Given the description of an element on the screen output the (x, y) to click on. 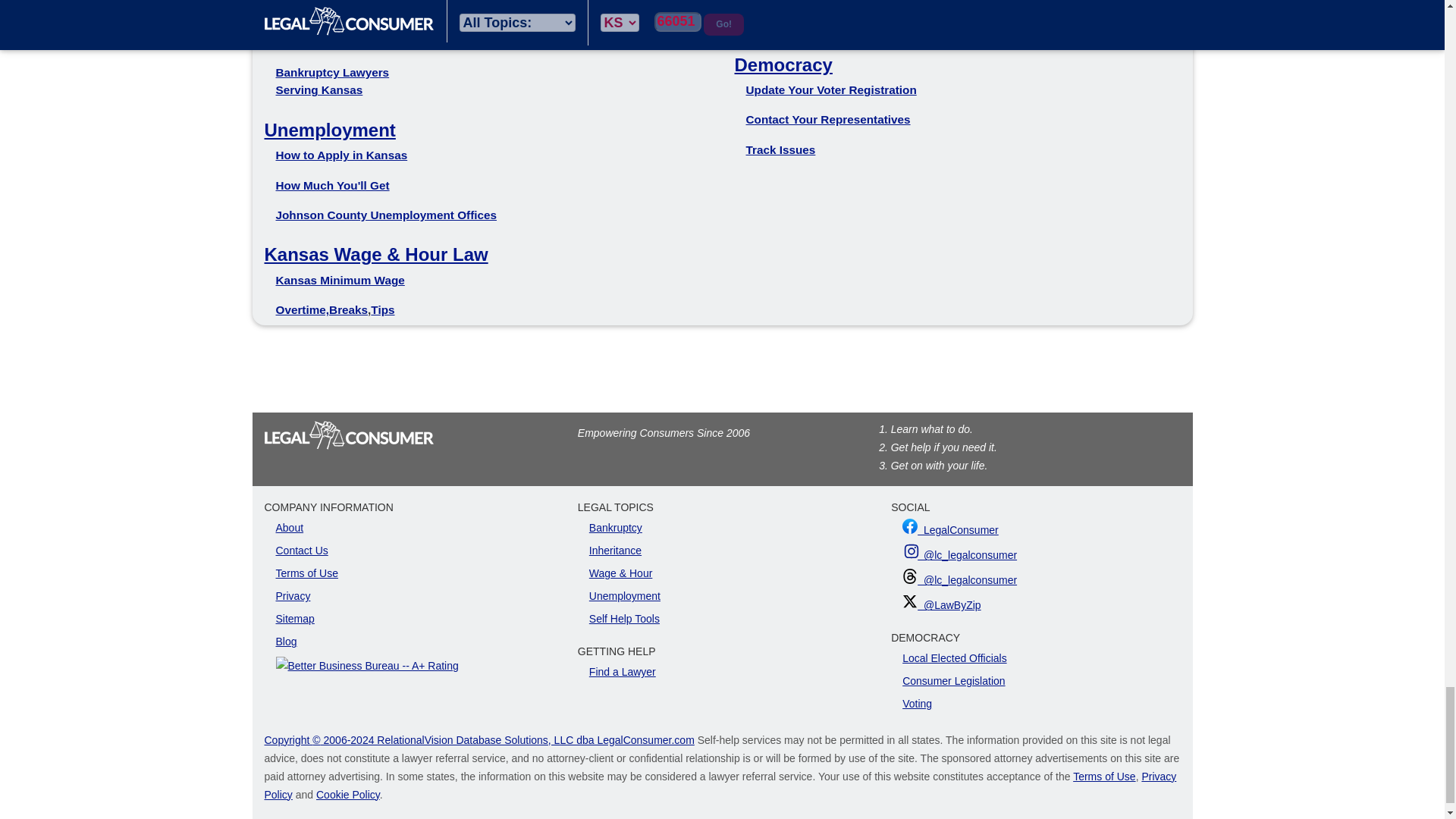
Instagram (911, 550)
About LegalConsumer (290, 527)
Johnson County Bankruptcy Court Information (344, 24)
Free Bankruptcy Forms for Johnson County, Kansas (341, 42)
What Are My Rights to Tips in Kansas (382, 309)
Bankruptcy Lawyers serving Johnson County, Kansas (333, 81)
Johnson County, Kansas Unemployment Guide (328, 129)
Kansas Bankruptcy Exemptions (347, 0)
